Given the description of an element on the screen output the (x, y) to click on. 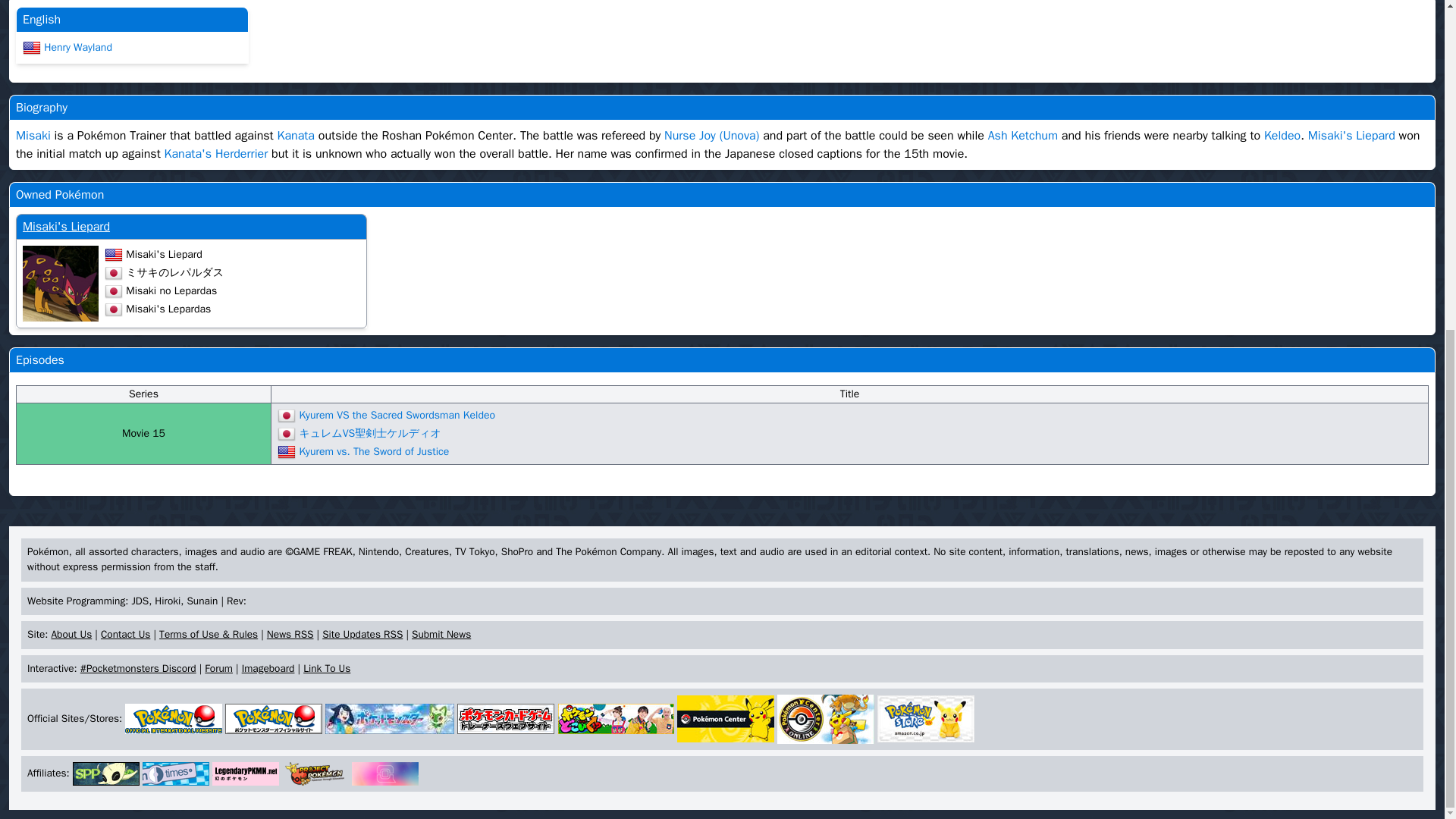
Flag for United States (31, 47)
